Given the description of an element on the screen output the (x, y) to click on. 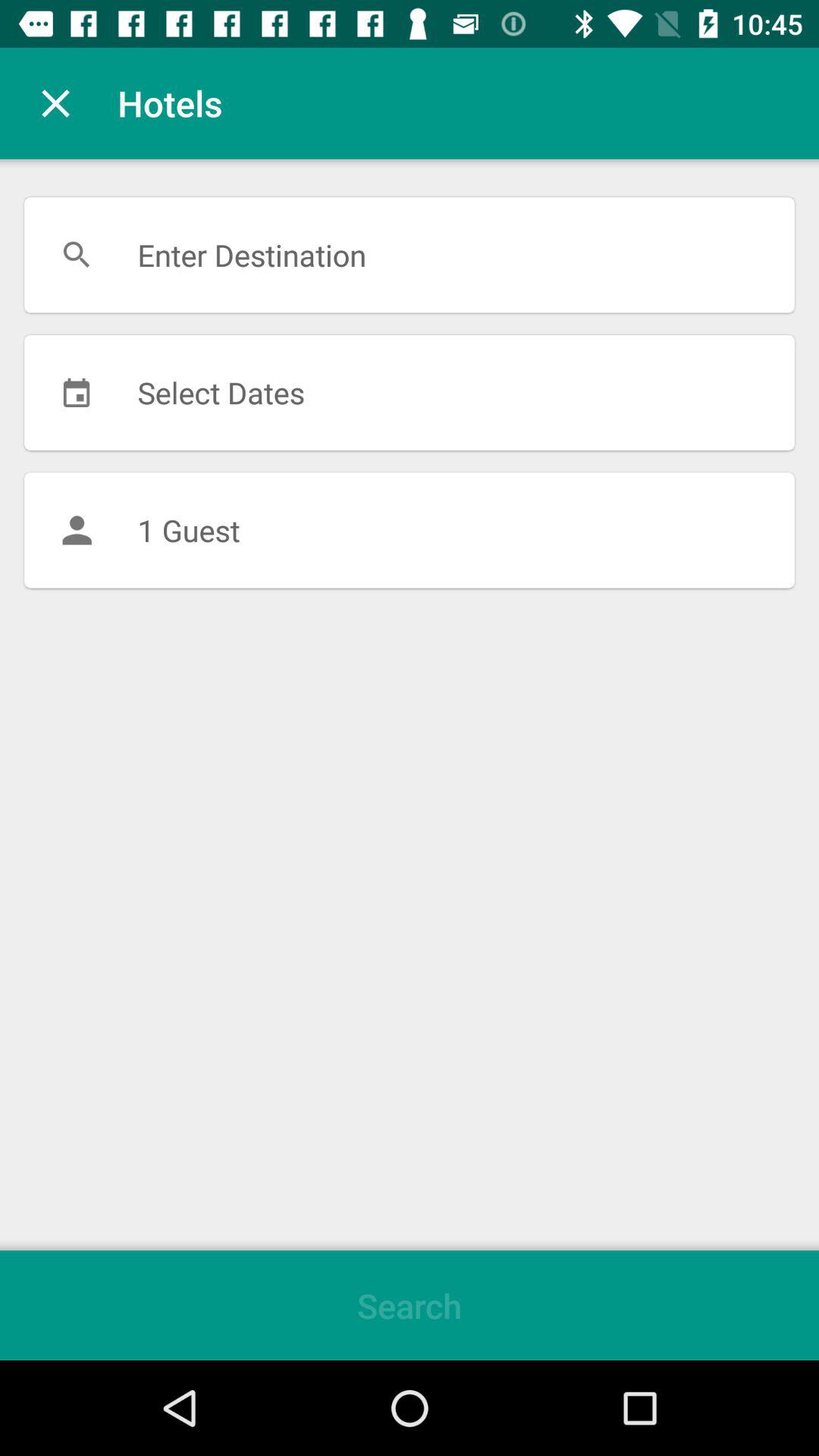
choose icon below select dates (409, 530)
